Given the description of an element on the screen output the (x, y) to click on. 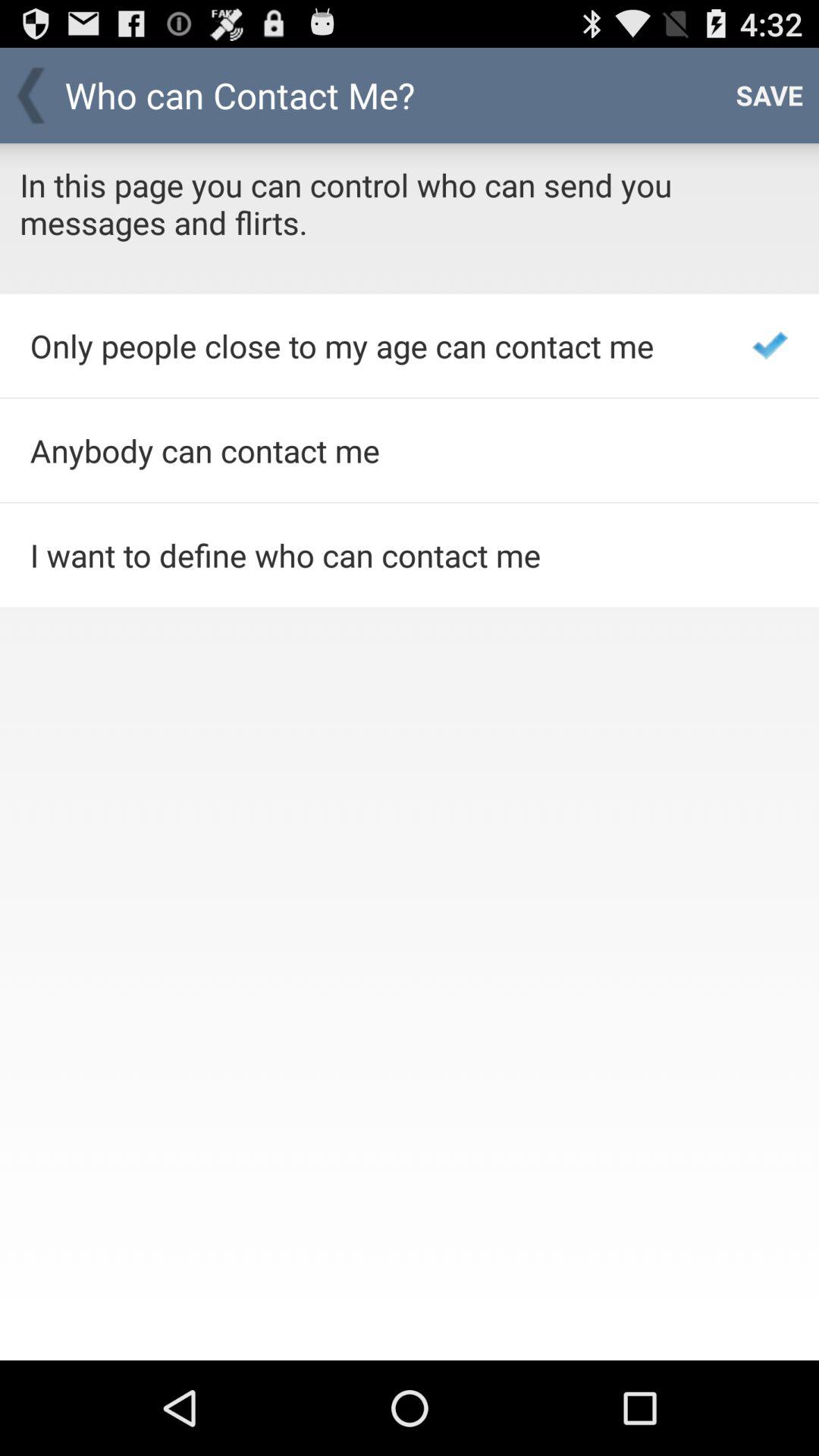
click the item above anybody can contact (371, 345)
